Given the description of an element on the screen output the (x, y) to click on. 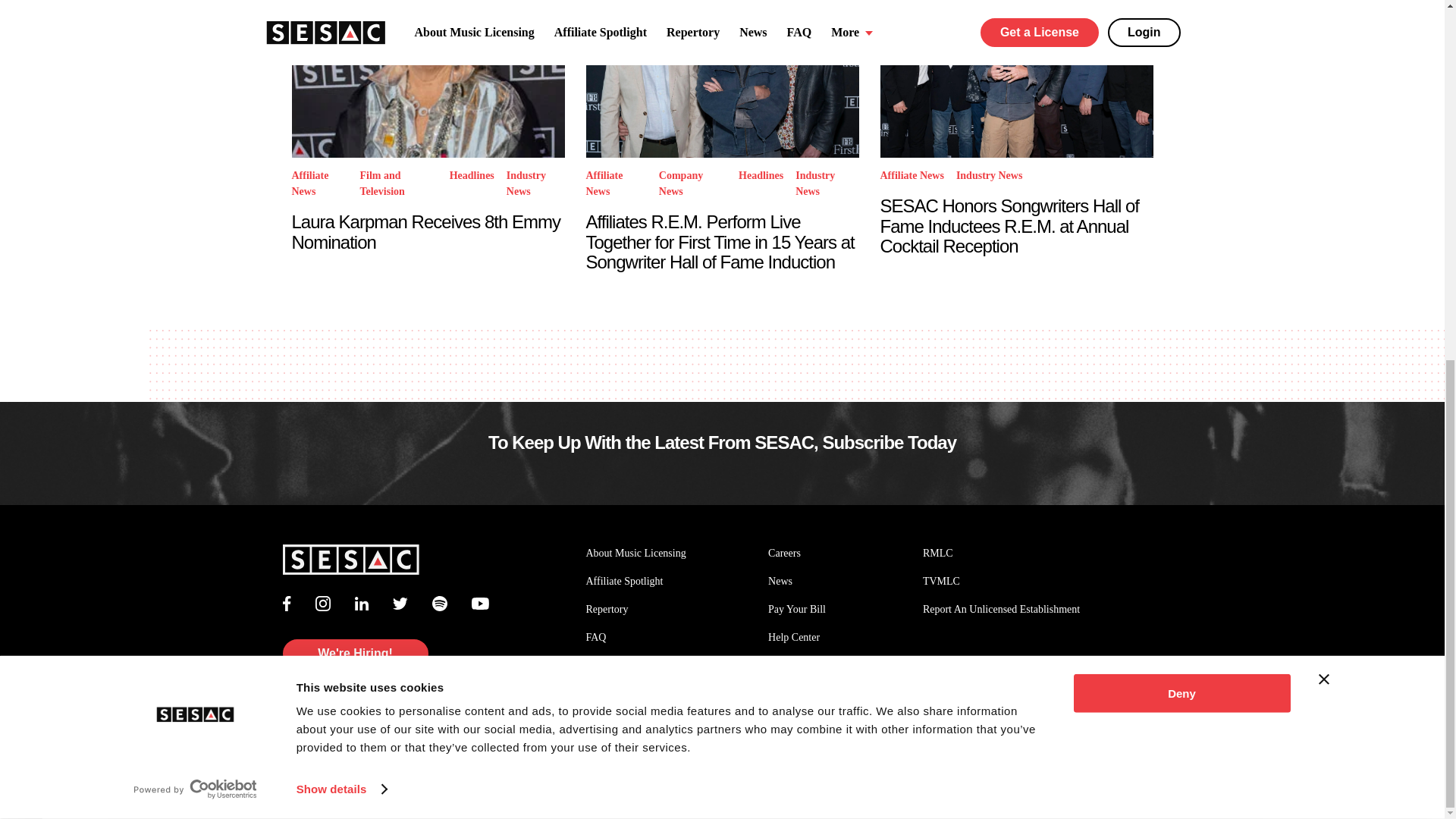
Show details (341, 151)
